Given the description of an element on the screen output the (x, y) to click on. 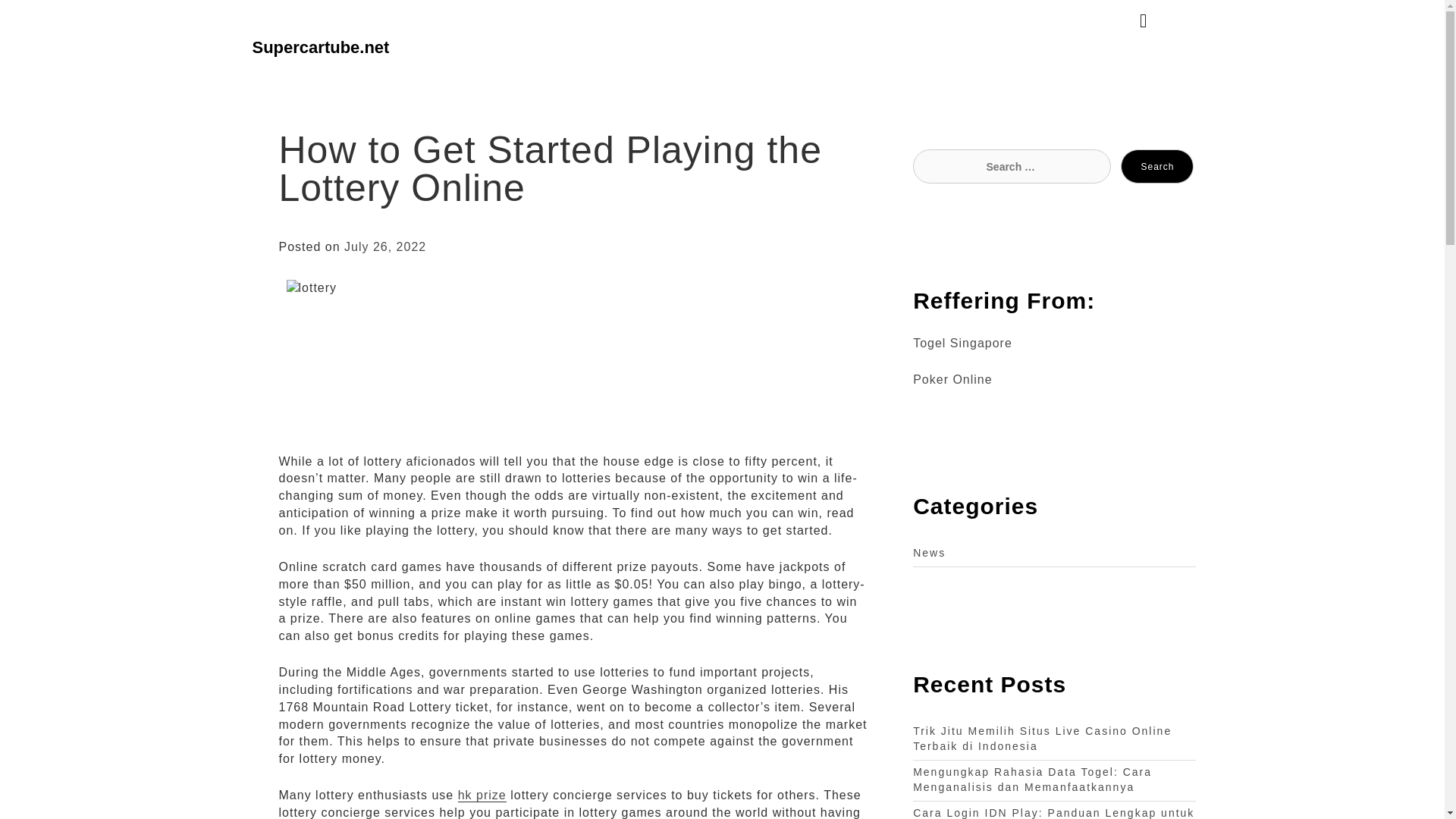
July 26, 2022 (384, 246)
Supercartube.net (319, 46)
Poker Online (952, 379)
Togel Singapore (961, 342)
hk prize (482, 795)
Search (1157, 166)
Cara Login IDN Play: Panduan Lengkap untuk Bermain Online (1052, 812)
News (928, 552)
